Given the description of an element on the screen output the (x, y) to click on. 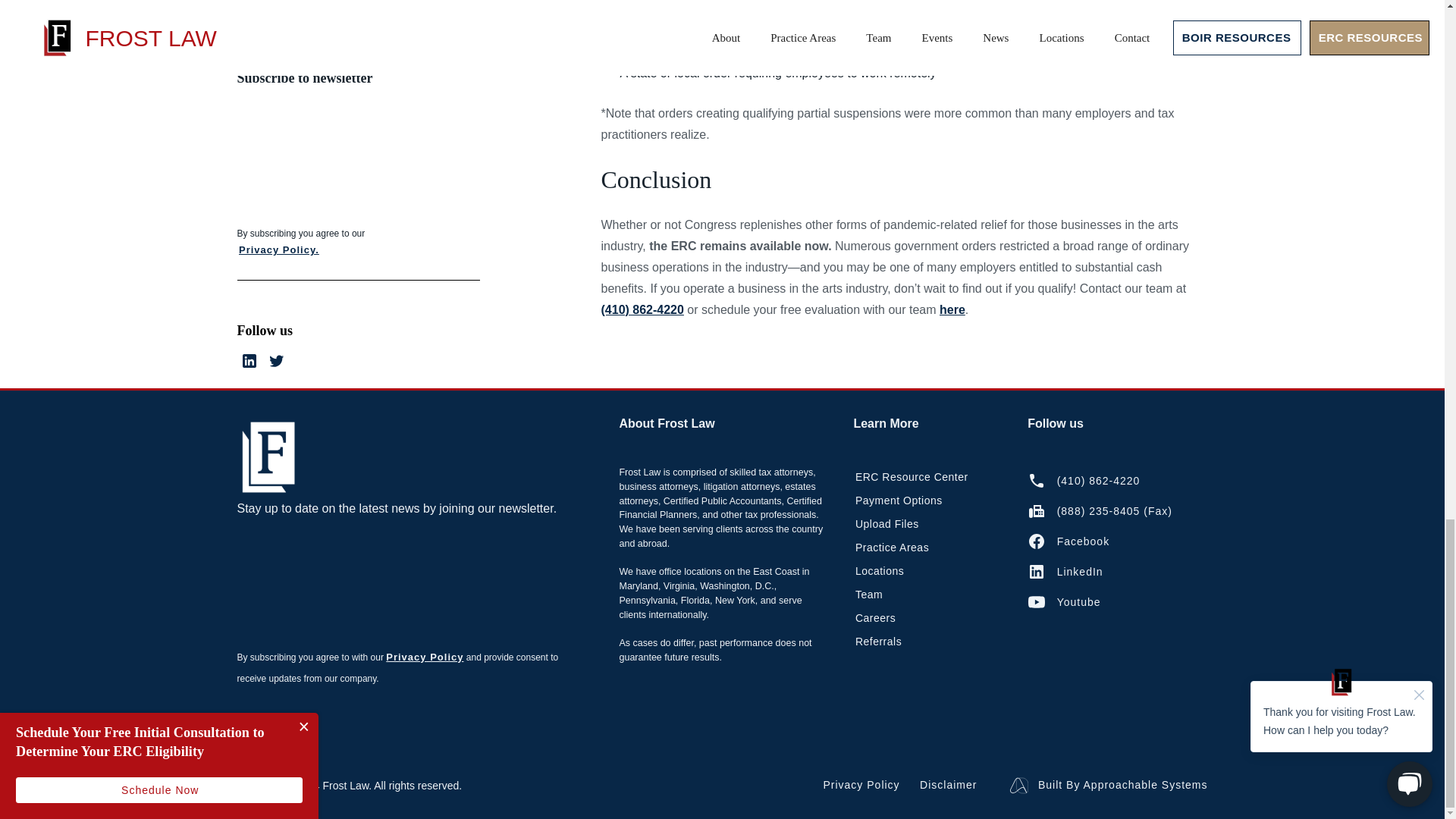
Form 2 (406, 578)
ERC Resource Center (910, 477)
here (952, 309)
Privacy Policy (424, 656)
